Given the description of an element on the screen output the (x, y) to click on. 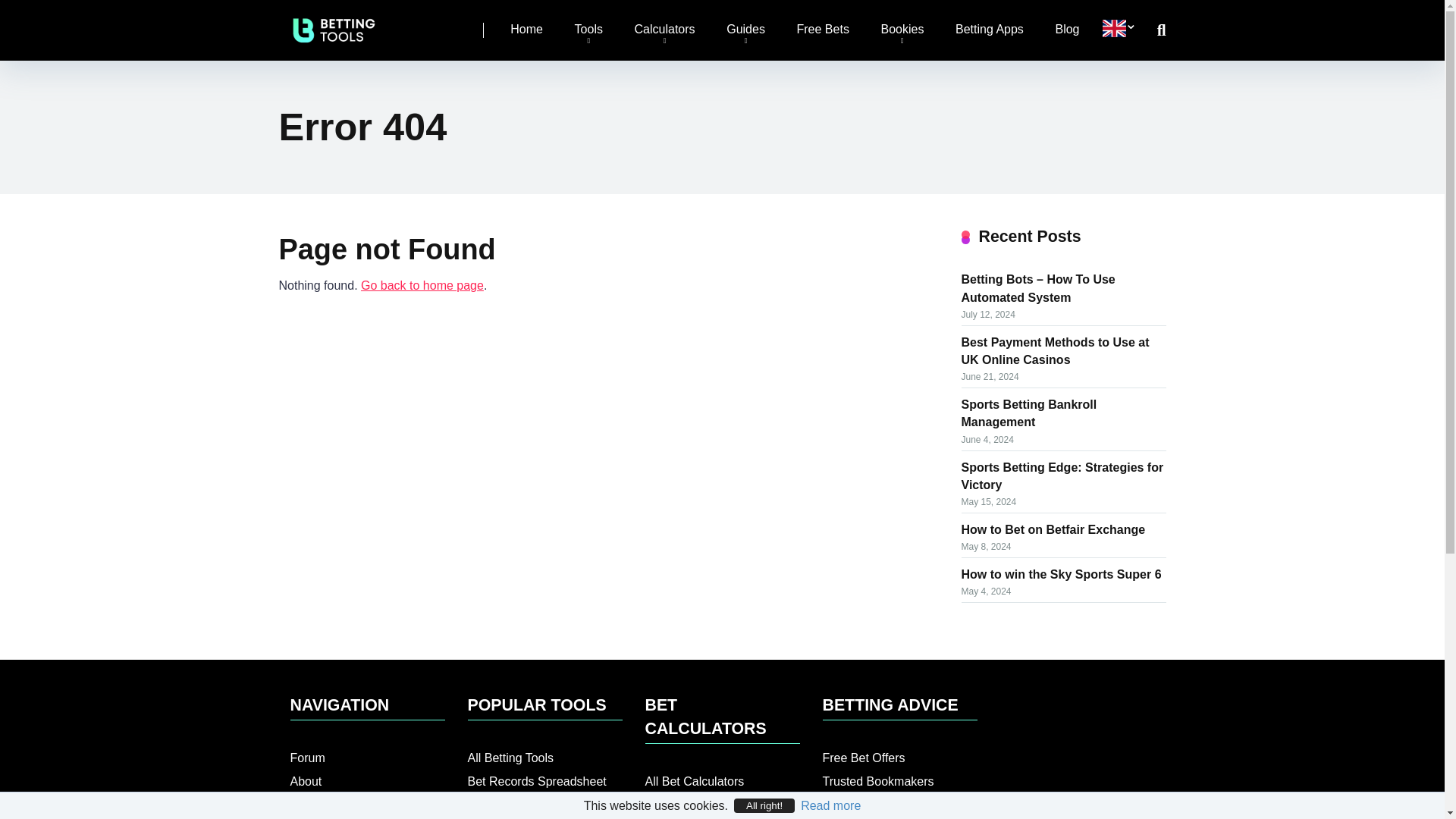
Calculators (664, 30)
Bookies (902, 30)
Home (525, 30)
Guides (745, 30)
BettingTools (333, 24)
Tools (588, 30)
BettingTools (422, 285)
Free Bets (823, 30)
